Given the description of an element on the screen output the (x, y) to click on. 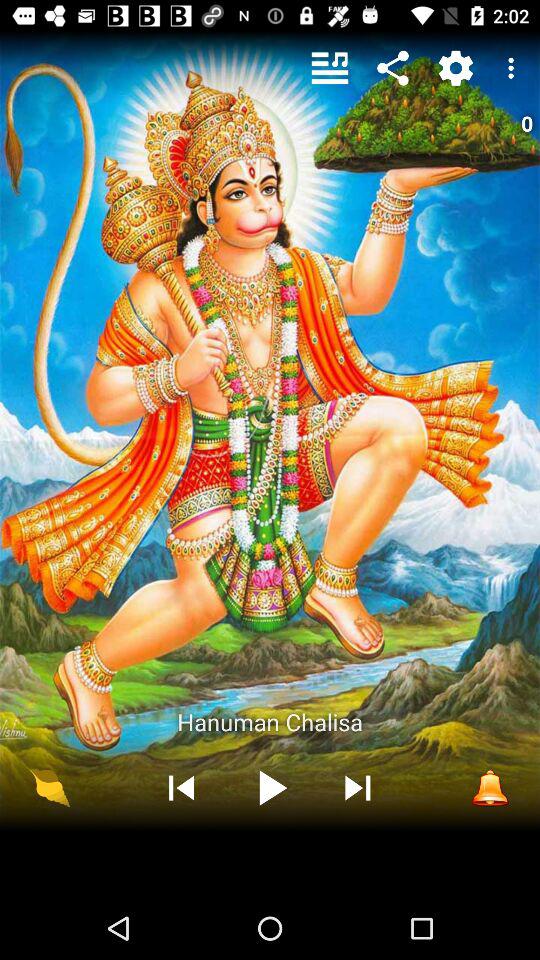
press the icon at the bottom left corner (49, 787)
